Given the description of an element on the screen output the (x, y) to click on. 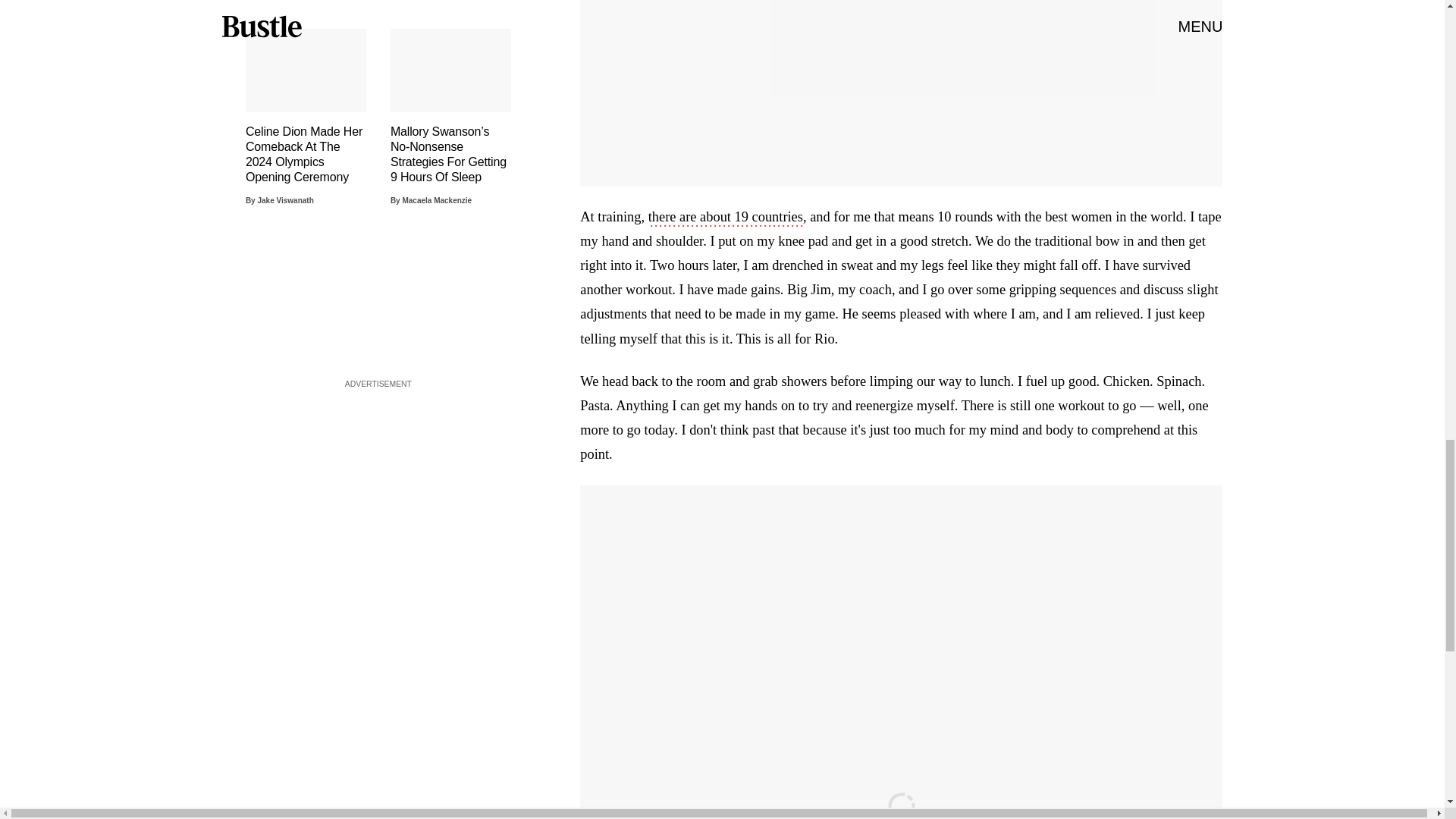
there are about 19 countries (725, 218)
